Given the description of an element on the screen output the (x, y) to click on. 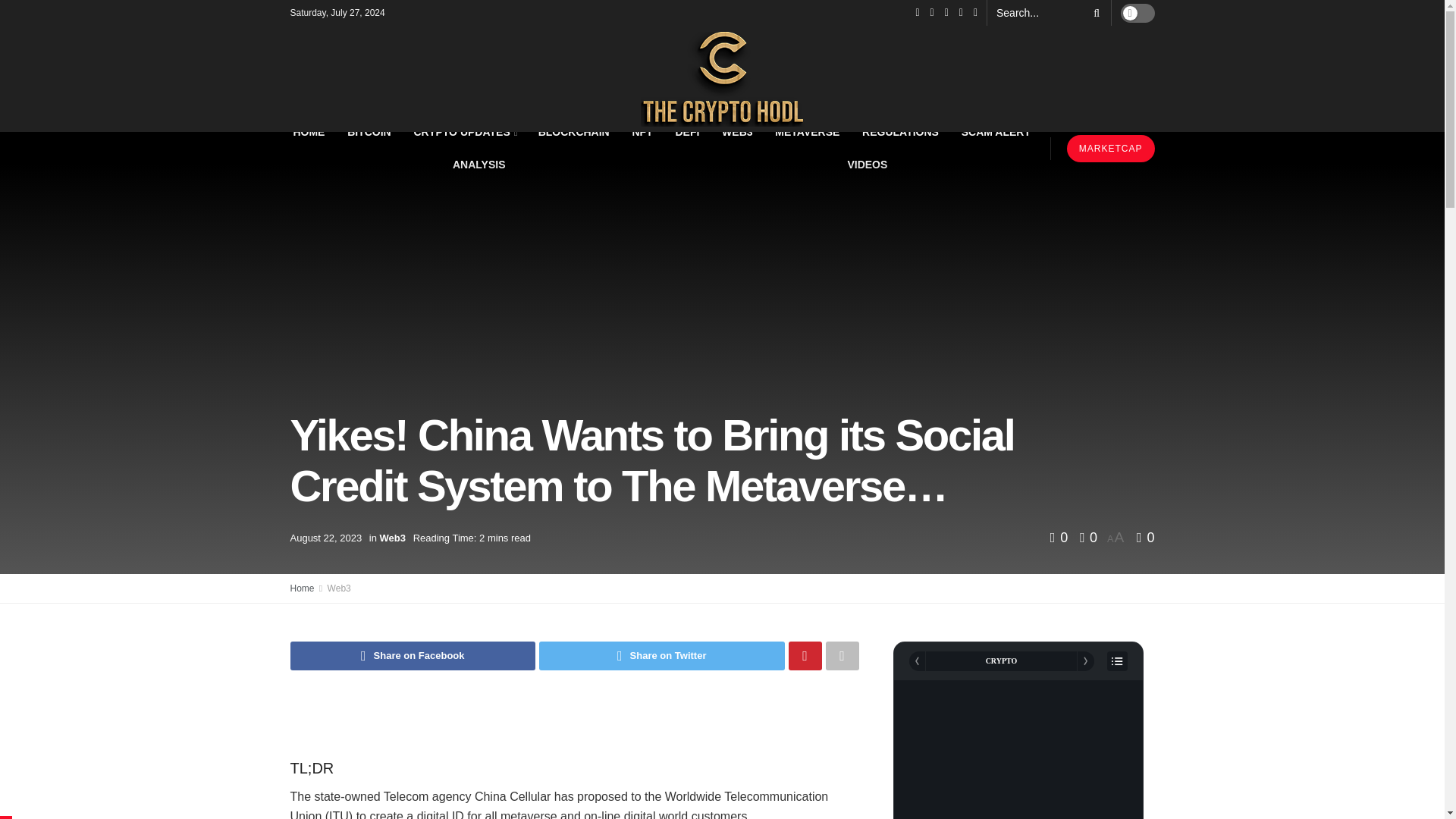
BITCOIN (368, 131)
REGULATIONS (900, 131)
BLOCKCHAIN (573, 131)
ANALYSIS (477, 164)
CRYPTO UPDATES (464, 131)
HOME (308, 131)
WEB3 (737, 131)
SCAM ALERT (995, 131)
VIDEOS (866, 164)
METAVERSE (807, 131)
NFT (642, 131)
DEFI (687, 131)
MARKETCAP (1110, 148)
